Given the description of an element on the screen output the (x, y) to click on. 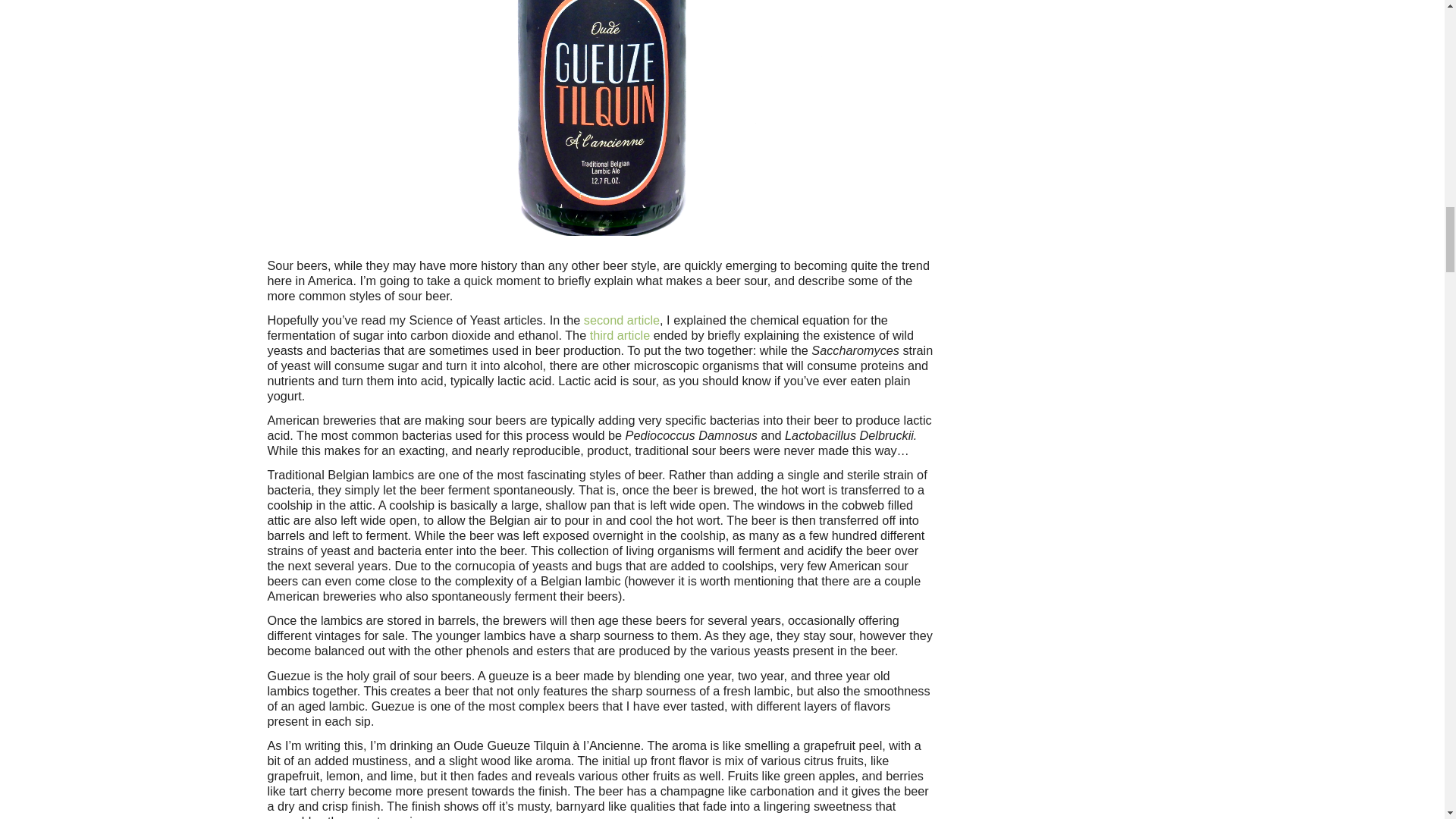
third article (619, 335)
second article (621, 319)
